Given the description of an element on the screen output the (x, y) to click on. 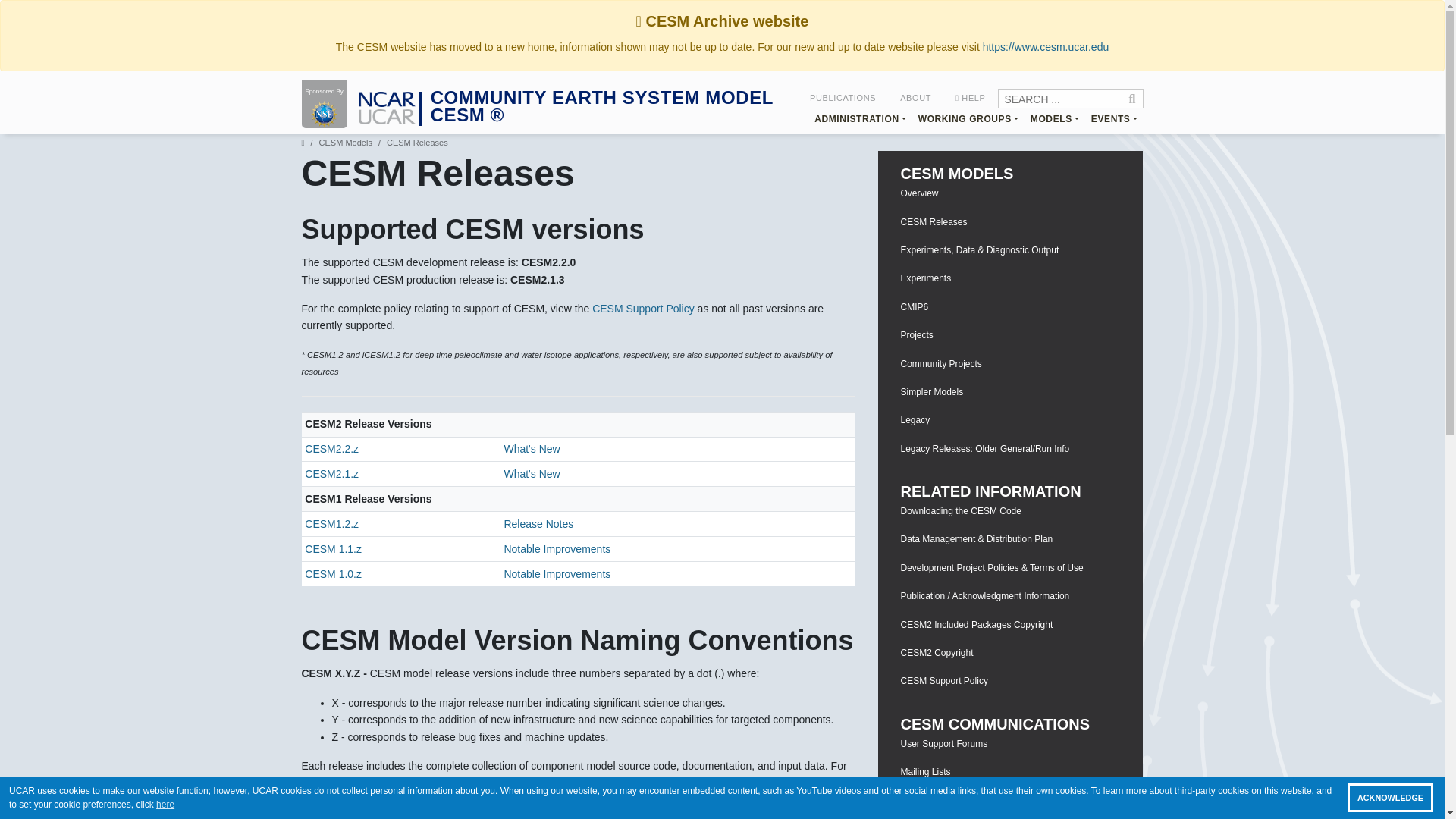
here (164, 804)
 HELP (970, 97)
ACKNOWLEDGE (1390, 797)
ABOUT (915, 97)
NCAR is sponsored by the NSF (324, 113)
NCAR Logo (386, 99)
UCAR Logo (386, 116)
ADMINISTRATION (860, 117)
WORKING GROUPS (968, 117)
PUBLICATIONS (842, 97)
